Given the description of an element on the screen output the (x, y) to click on. 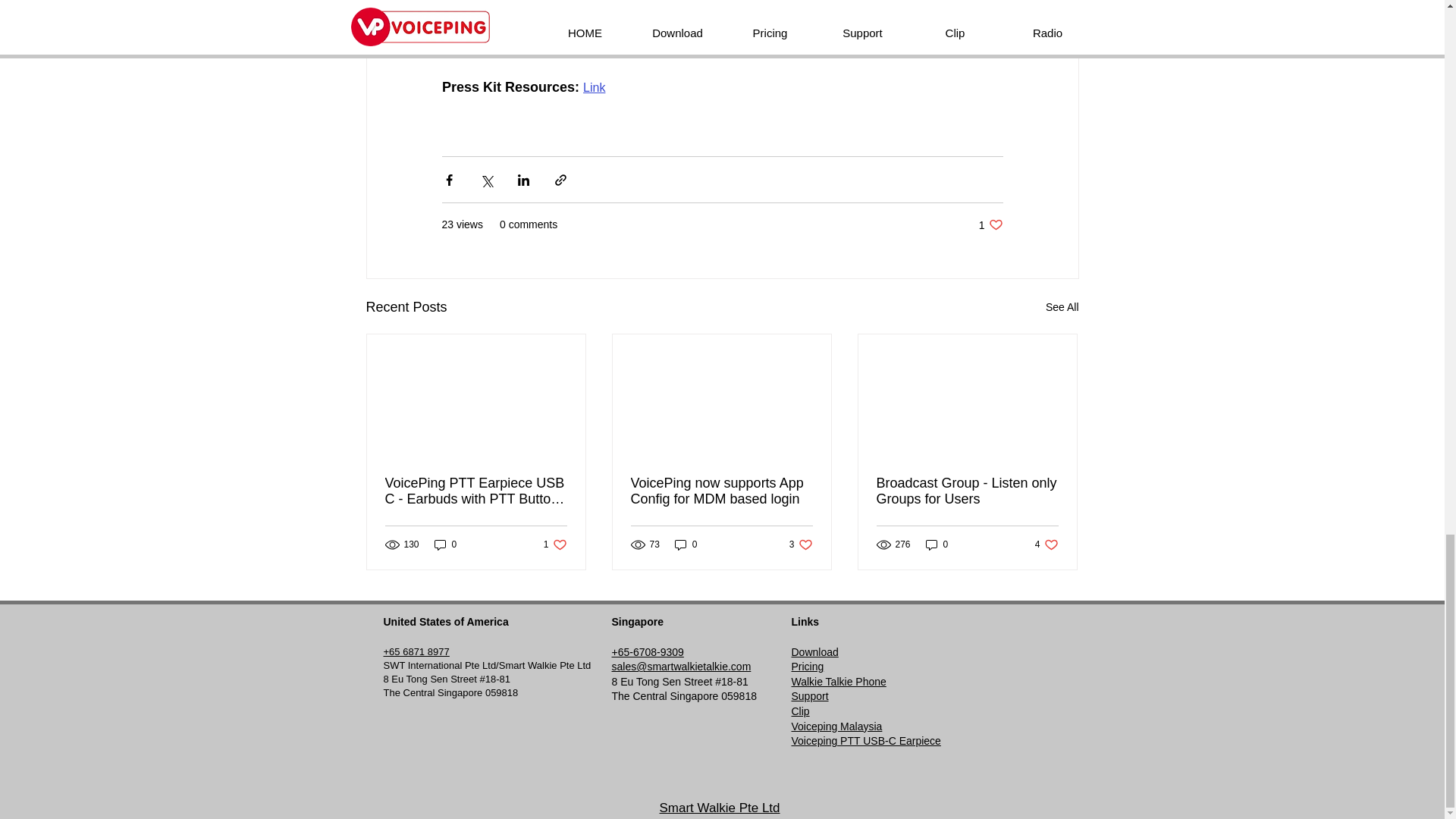
0 (445, 544)
Clip (800, 711)
See All (555, 544)
Pricing (1061, 307)
VoicePing now supports App Config for MDM based login (1046, 544)
0 (808, 666)
Broadcast Group - Listen only Groups for Users (721, 490)
Link (685, 544)
Download (967, 490)
0 (594, 87)
